Given the description of an element on the screen output the (x, y) to click on. 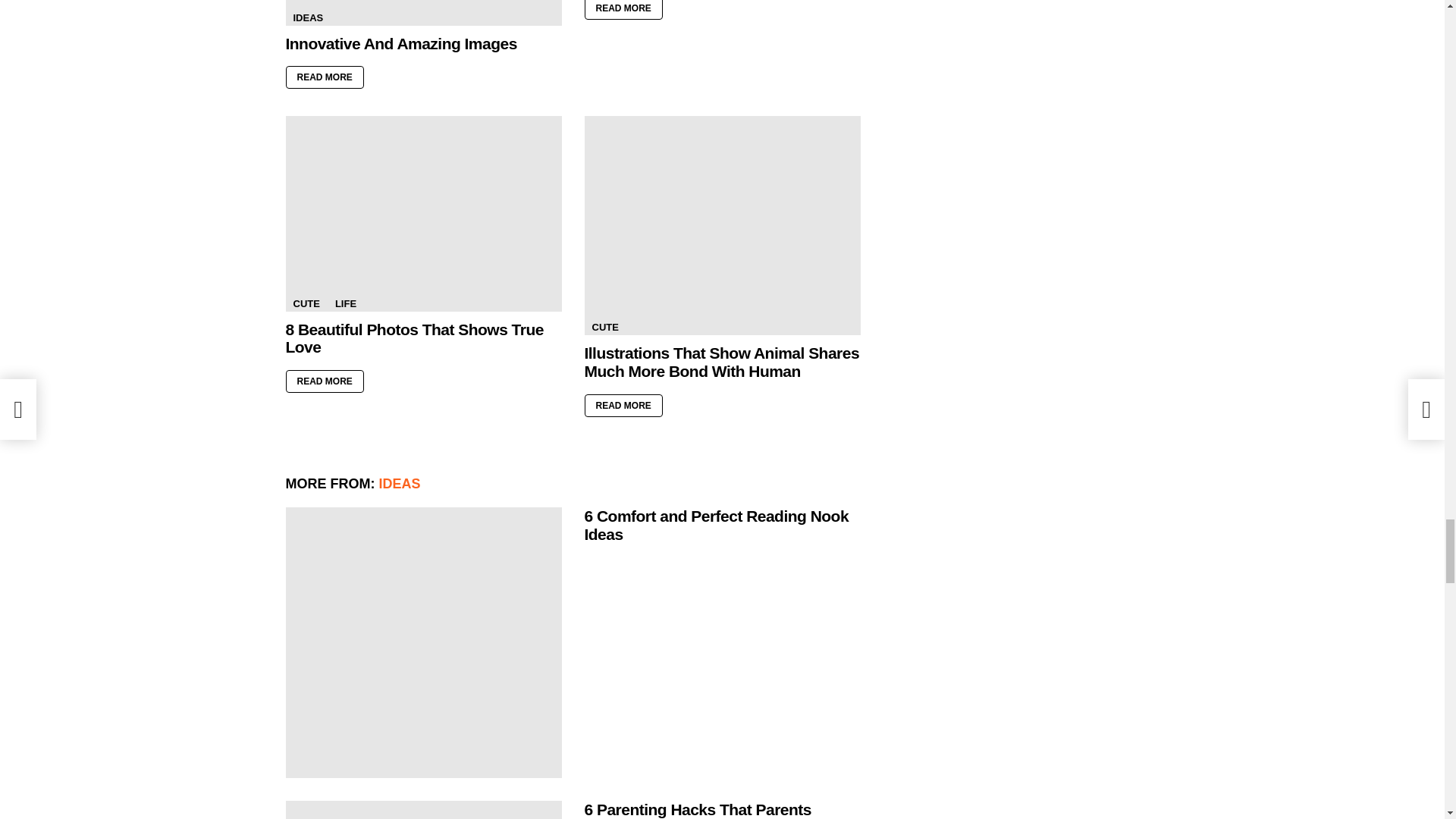
8 Beautiful Photos That Shows True Love (422, 213)
Innovative And Amazing Images (422, 12)
